Given the description of an element on the screen output the (x, y) to click on. 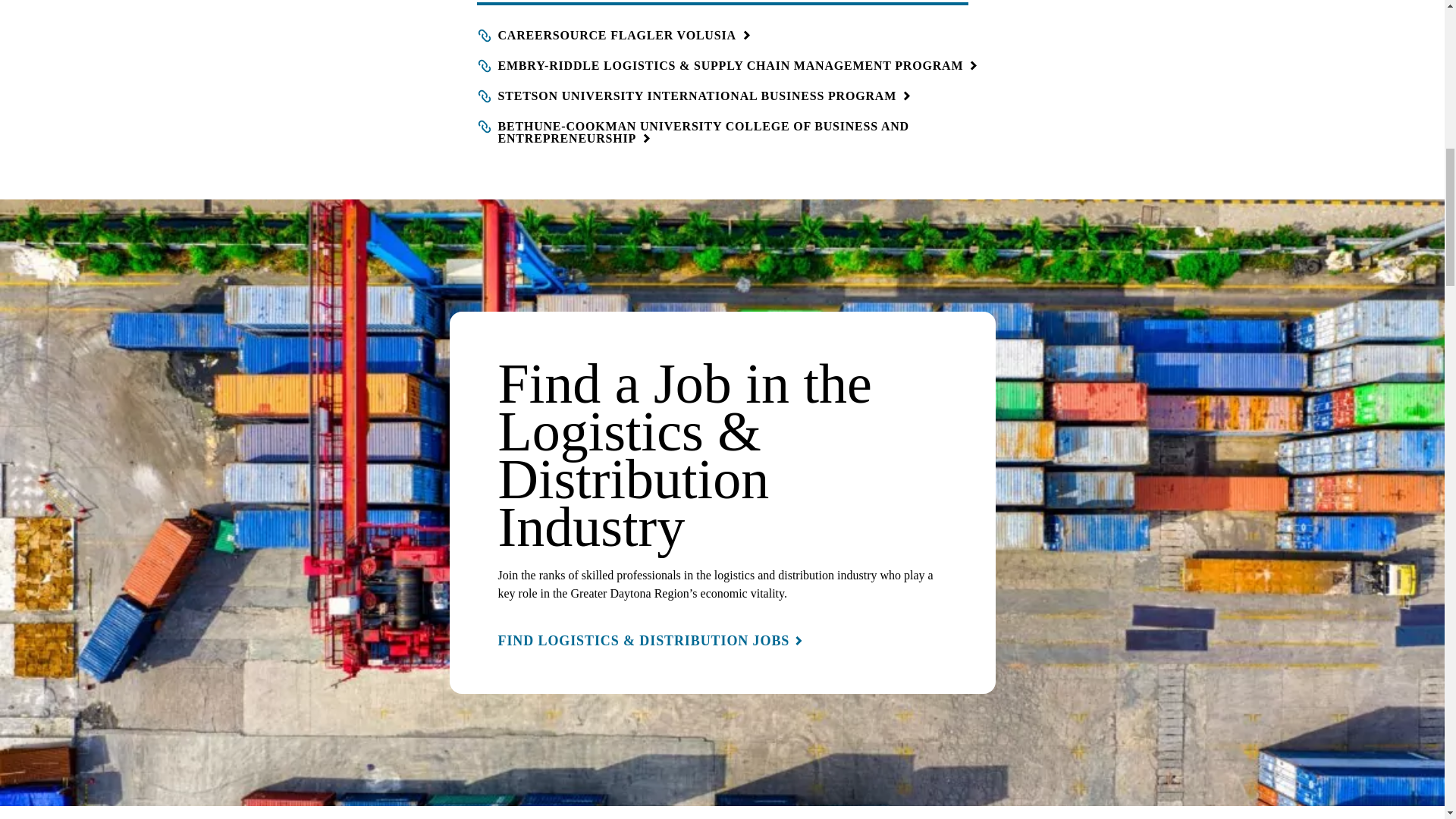
CAREERSOURCE FLAGLER VOLUSIA (610, 37)
STETSON UNIVERSITY INTERNATIONAL BUSINESS PROGRAM (690, 97)
